Given the description of an element on the screen output the (x, y) to click on. 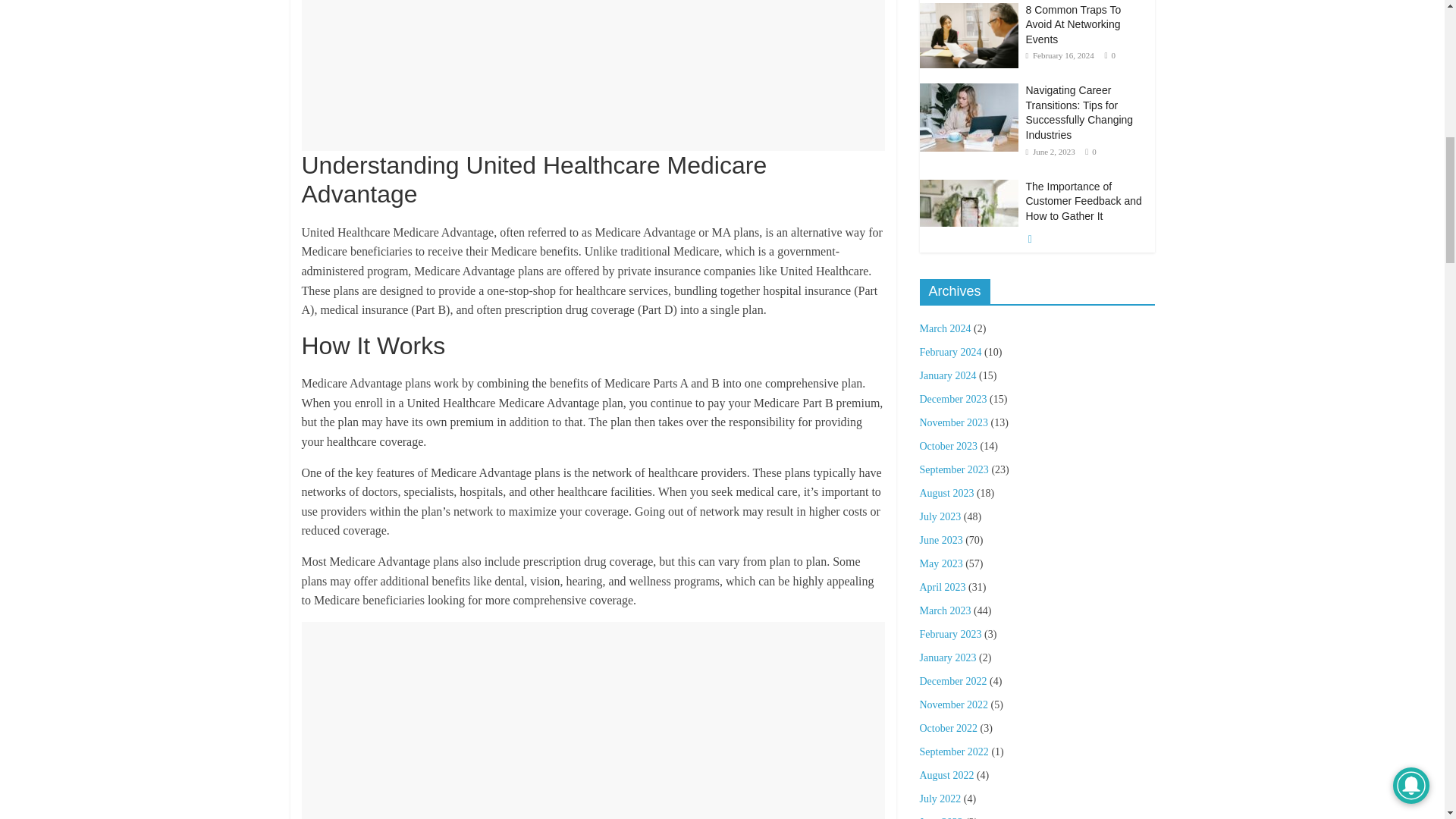
Advertisement (593, 75)
Advertisement (593, 720)
